Given the description of an element on the screen output the (x, y) to click on. 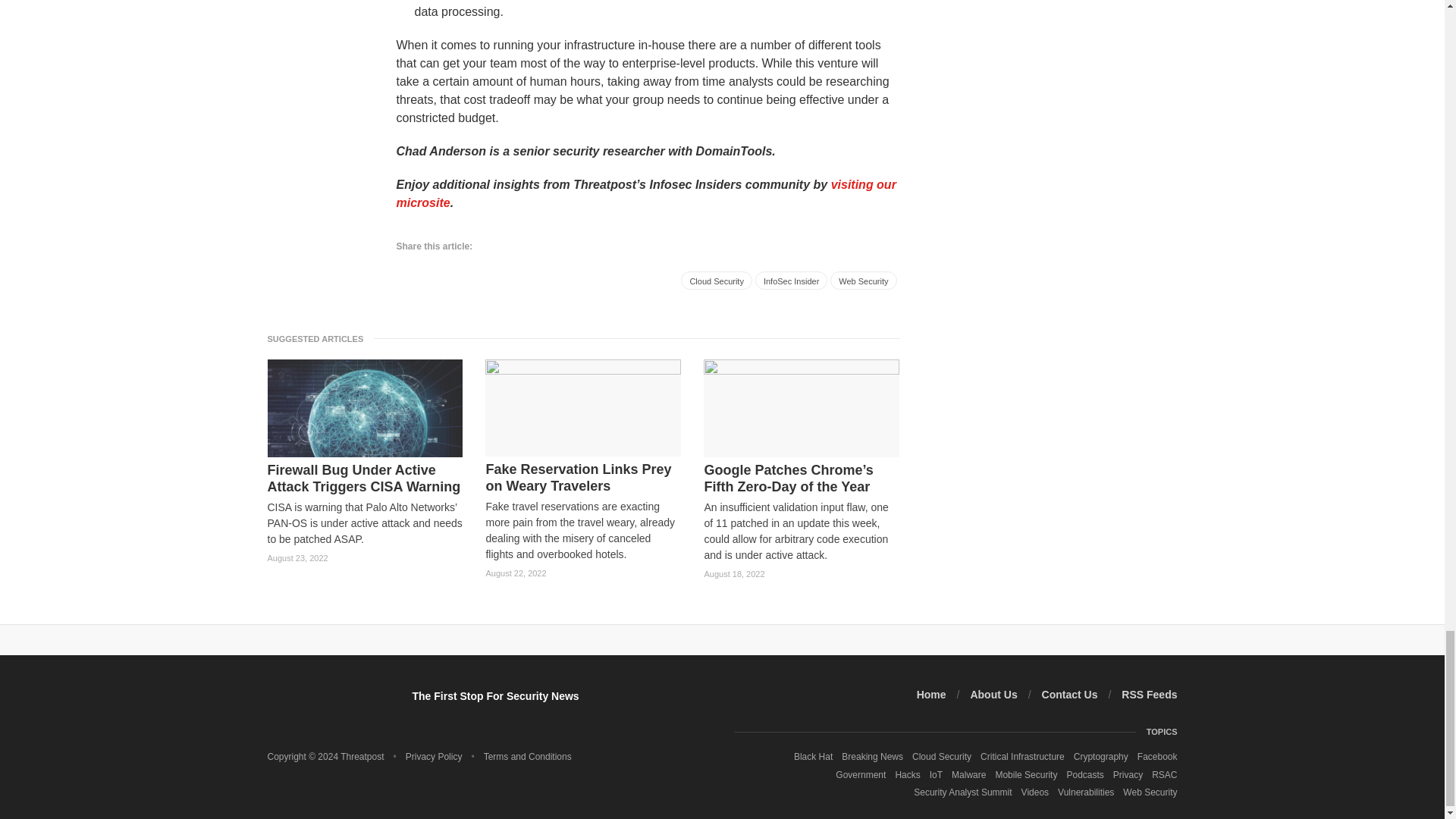
visiting our microsite (645, 193)
Cloud Security (716, 280)
Fake Reservation Links Prey on Weary Travelers (582, 478)
InfoSec Insider (791, 280)
SUGGESTED ARTICLES (319, 338)
Firewall Bug Under Active Attack Triggers CISA Warning (364, 478)
Web Security (862, 280)
